Given the description of an element on the screen output the (x, y) to click on. 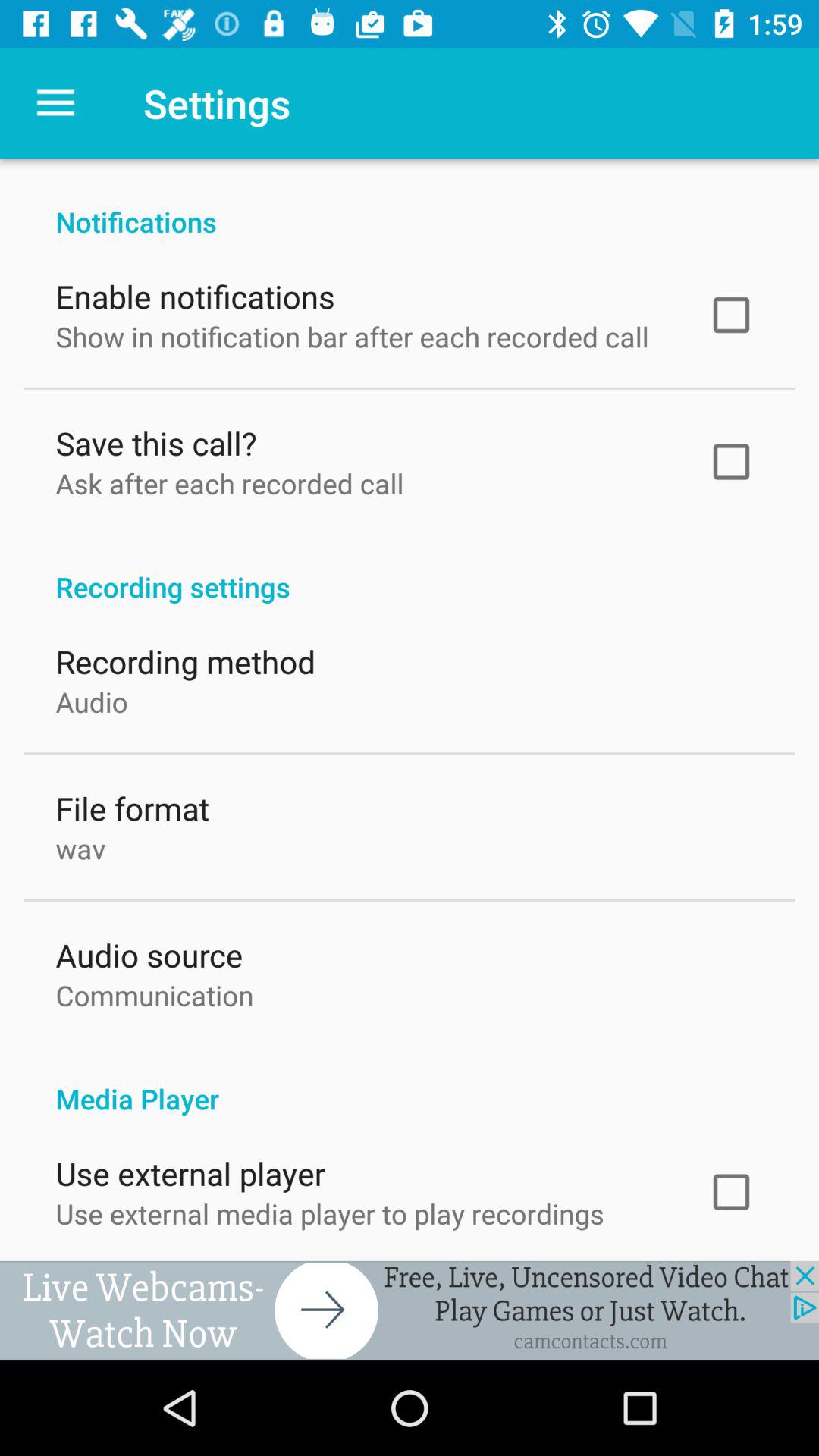
tap the item above show in notification item (194, 292)
